Given the description of an element on the screen output the (x, y) to click on. 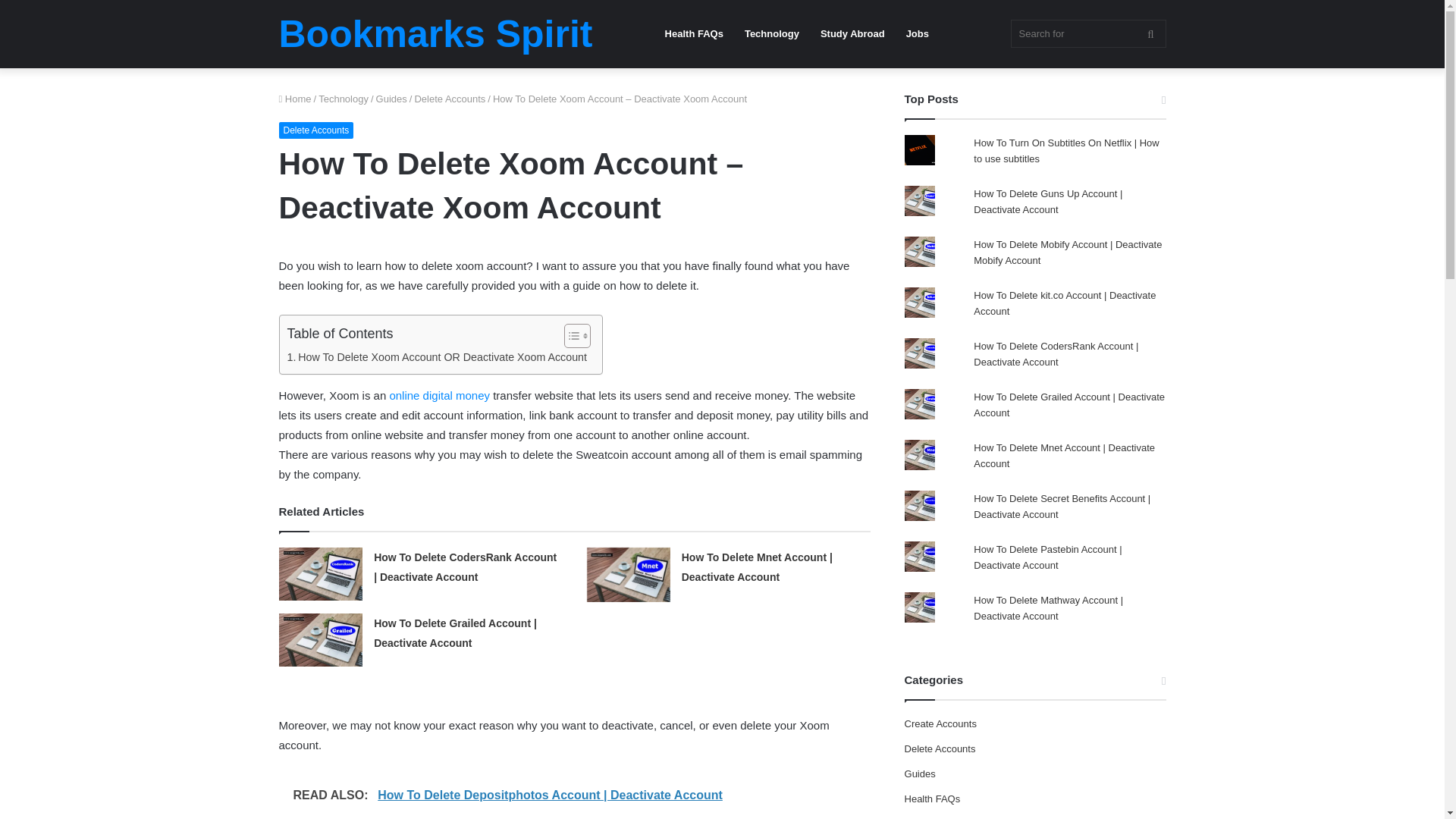
Health FAQs (693, 33)
How To Delete Xoom Account OR Deactivate Xoom Account (436, 357)
Guides (391, 98)
online digital money (440, 395)
Study Abroad (852, 33)
Technology (771, 33)
How To Delete Xoom Account OR Deactivate Xoom Account (436, 357)
Search for (1088, 33)
Bookmarks Spirit (435, 34)
Bookmarks Spirit (435, 34)
Delete Accounts (316, 130)
Delete Accounts (448, 98)
Home (295, 98)
Technology (343, 98)
